Given the description of an element on the screen output the (x, y) to click on. 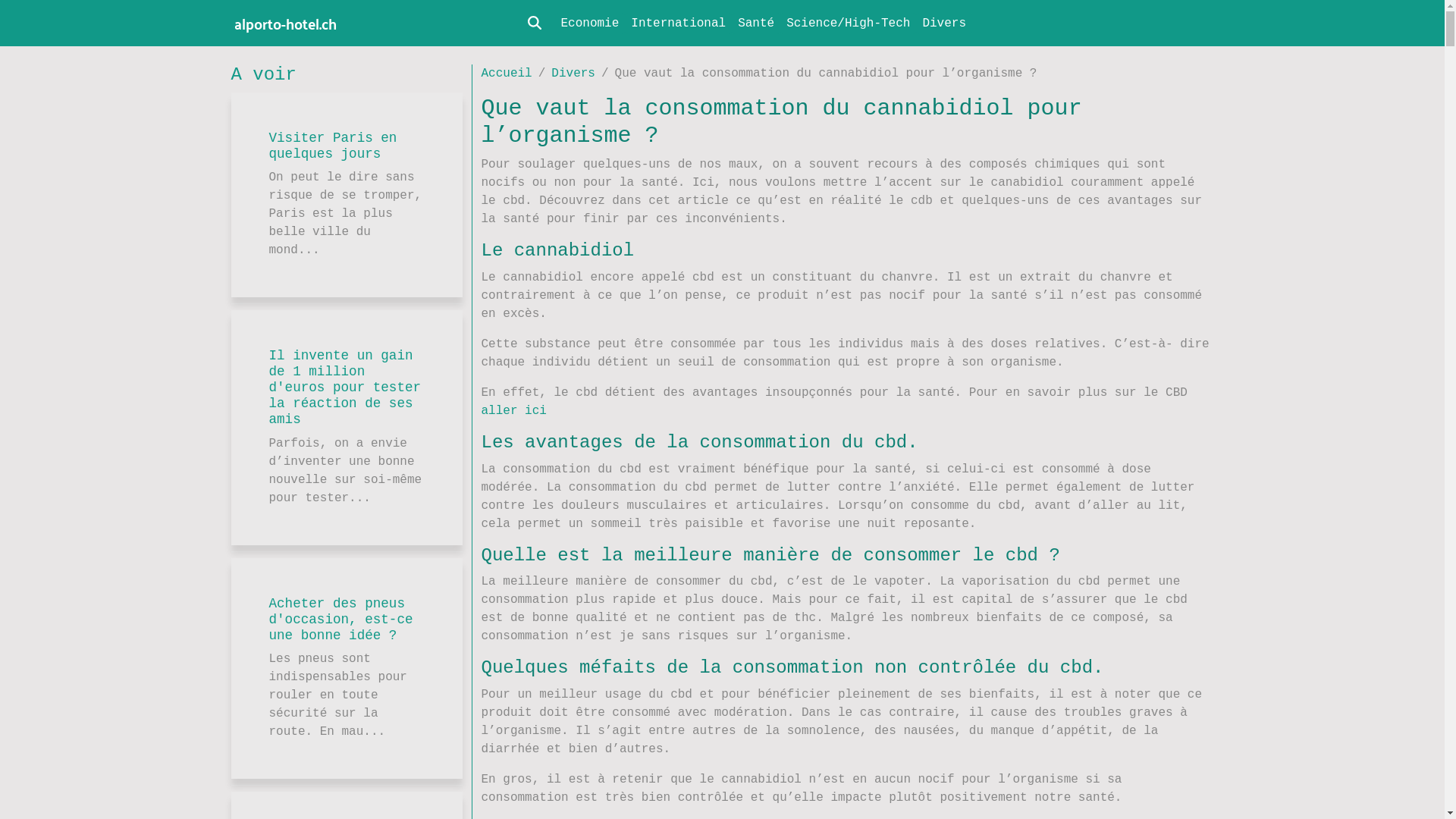
Economie Element type: text (590, 22)
alporto-hotel.ch Element type: text (284, 22)
Science/High-Tech Element type: text (848, 22)
Accueil Element type: text (505, 73)
Visiter Paris en quelques jours Element type: text (332, 145)
Divers Element type: text (573, 73)
International Element type: text (677, 22)
aller ici Element type: text (513, 410)
Divers Element type: text (944, 22)
